Given the description of an element on the screen output the (x, y) to click on. 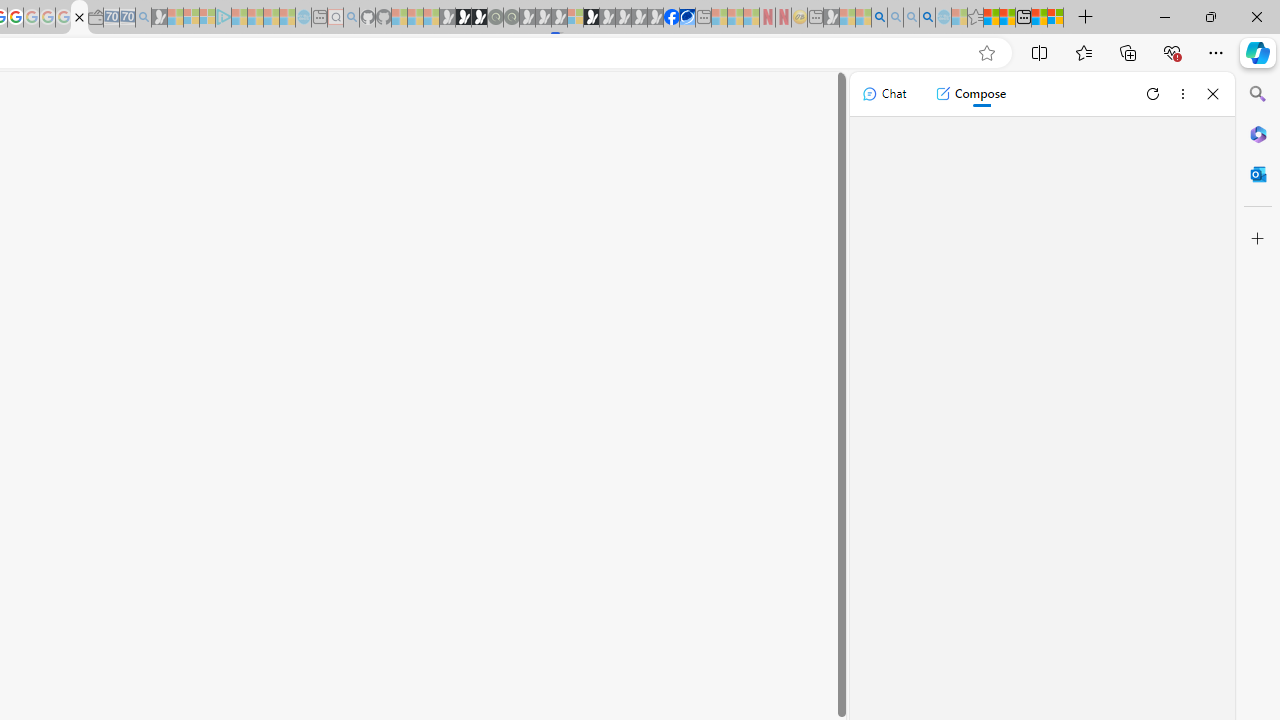
AQI & Health | AirNow.gov (687, 17)
github - Search - Sleeping (351, 17)
Favorites - Sleeping (975, 17)
Bing Real Estate - Home sales and rental listings - Sleeping (143, 17)
